Given the description of an element on the screen output the (x, y) to click on. 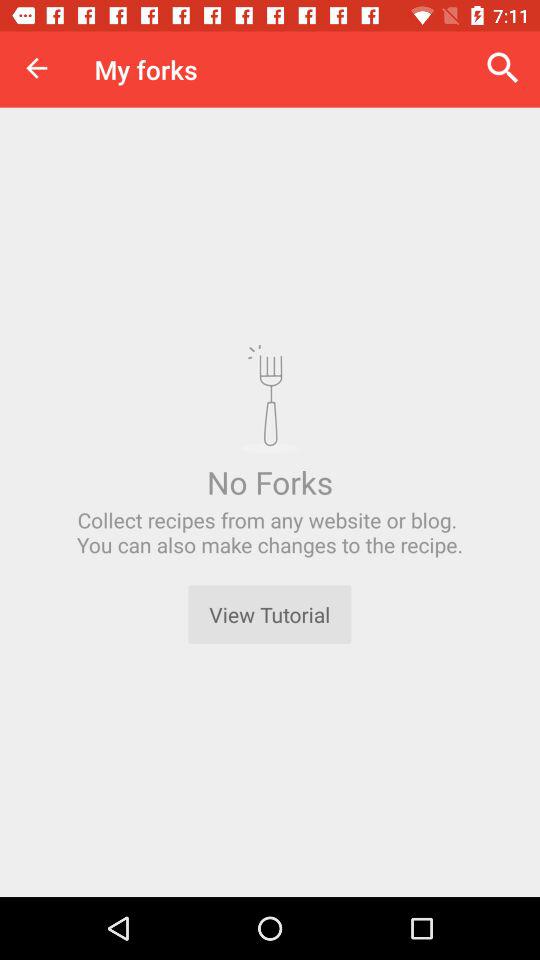
tap the item to the right of my forks item (503, 67)
